Given the description of an element on the screen output the (x, y) to click on. 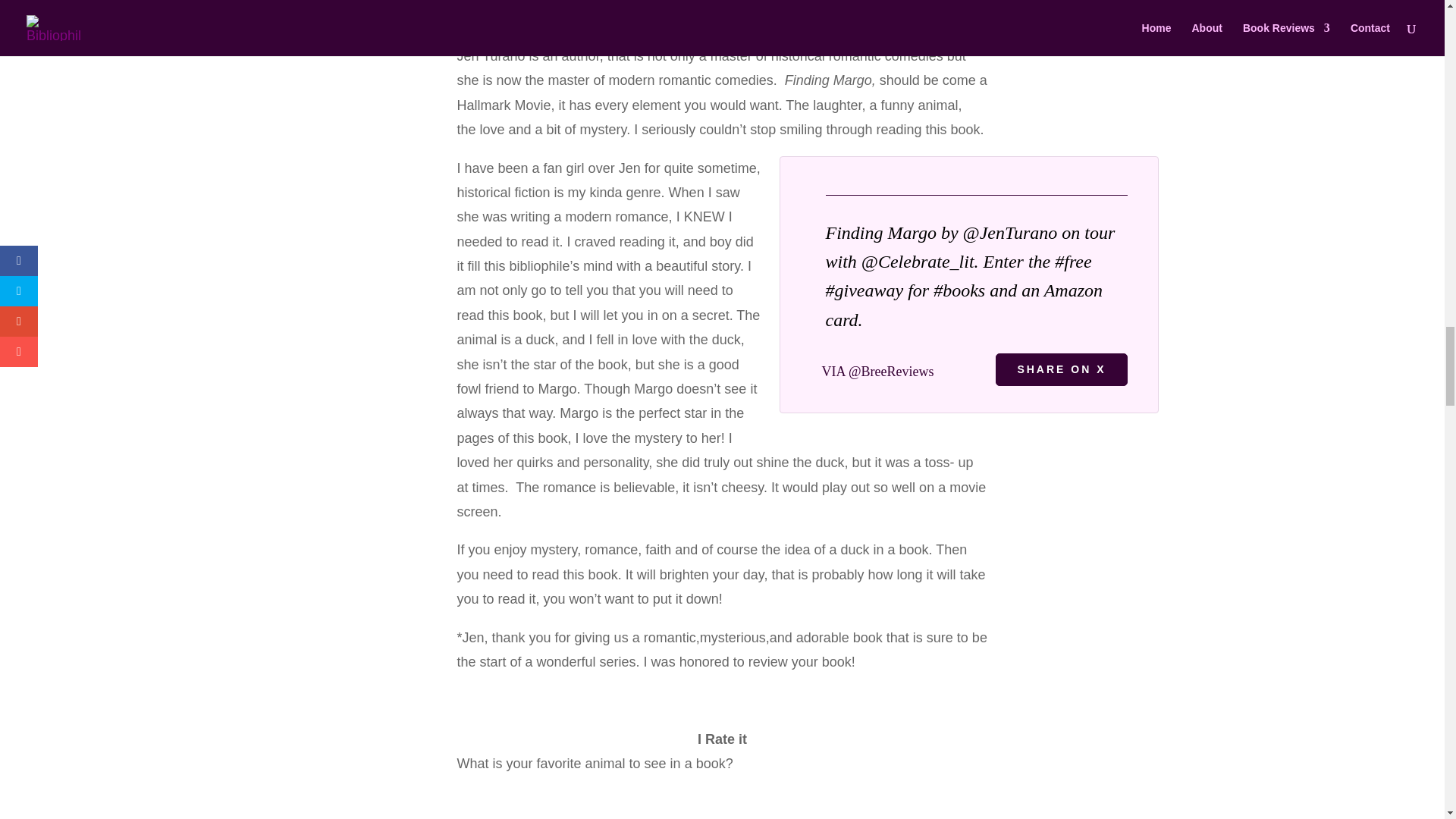
SHARE ON X (1060, 368)
